Given the description of an element on the screen output the (x, y) to click on. 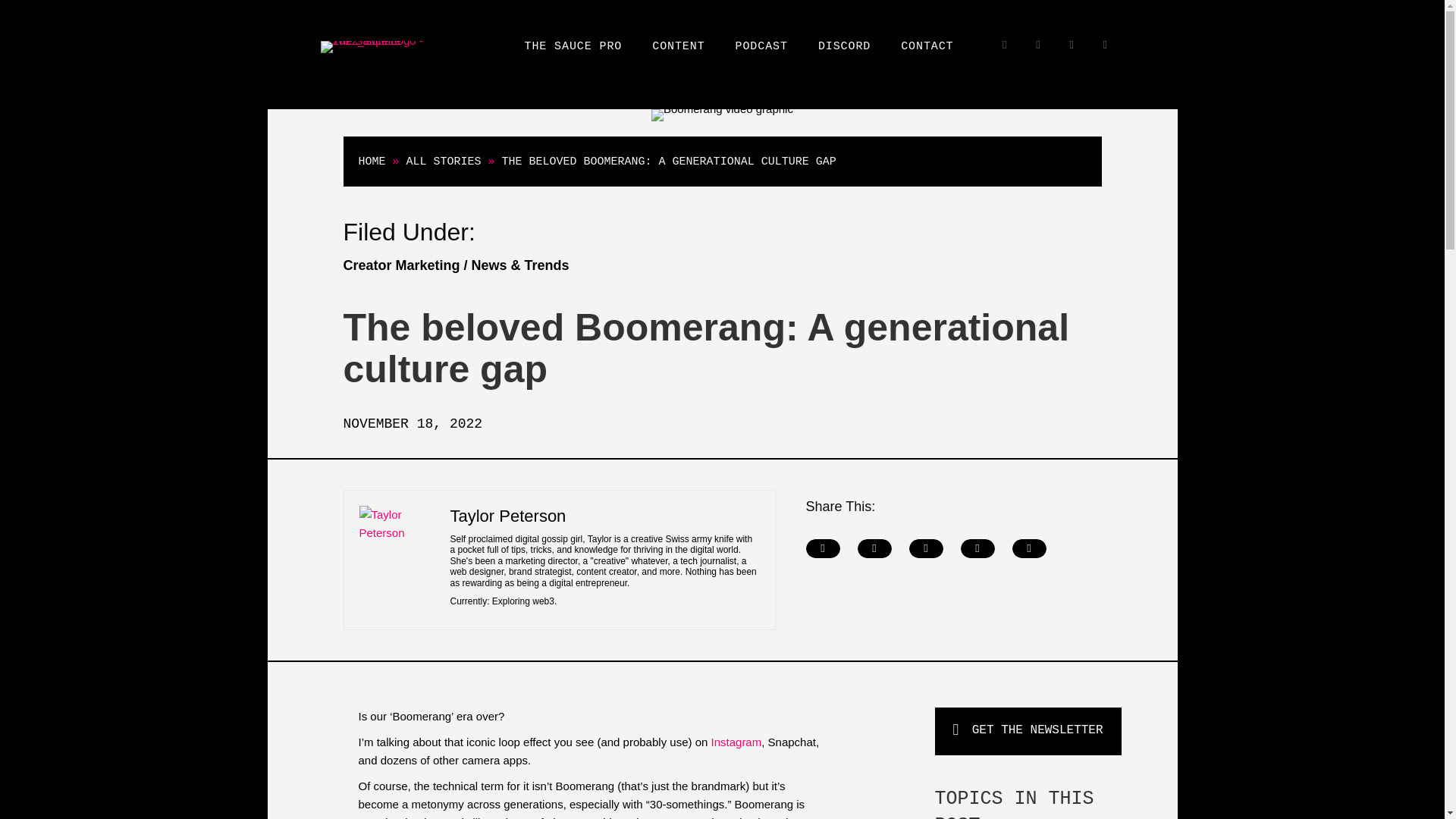
CONTENT (678, 46)
GET THE NEWSLETTER (1027, 730)
Boomerang video graphic (721, 114)
Creator Marketing (401, 264)
ALL STORIES (443, 162)
THE SAUCE PRO (573, 46)
CONTACT (926, 46)
PODCAST (761, 46)
HOME (371, 162)
DISCORD (843, 46)
